Given the description of an element on the screen output the (x, y) to click on. 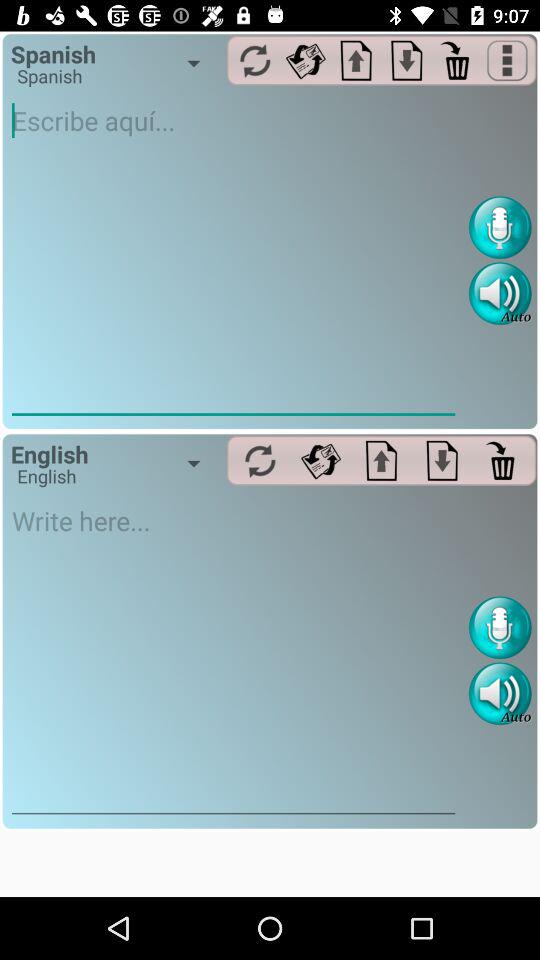
refresh (254, 60)
